Given the description of an element on the screen output the (x, y) to click on. 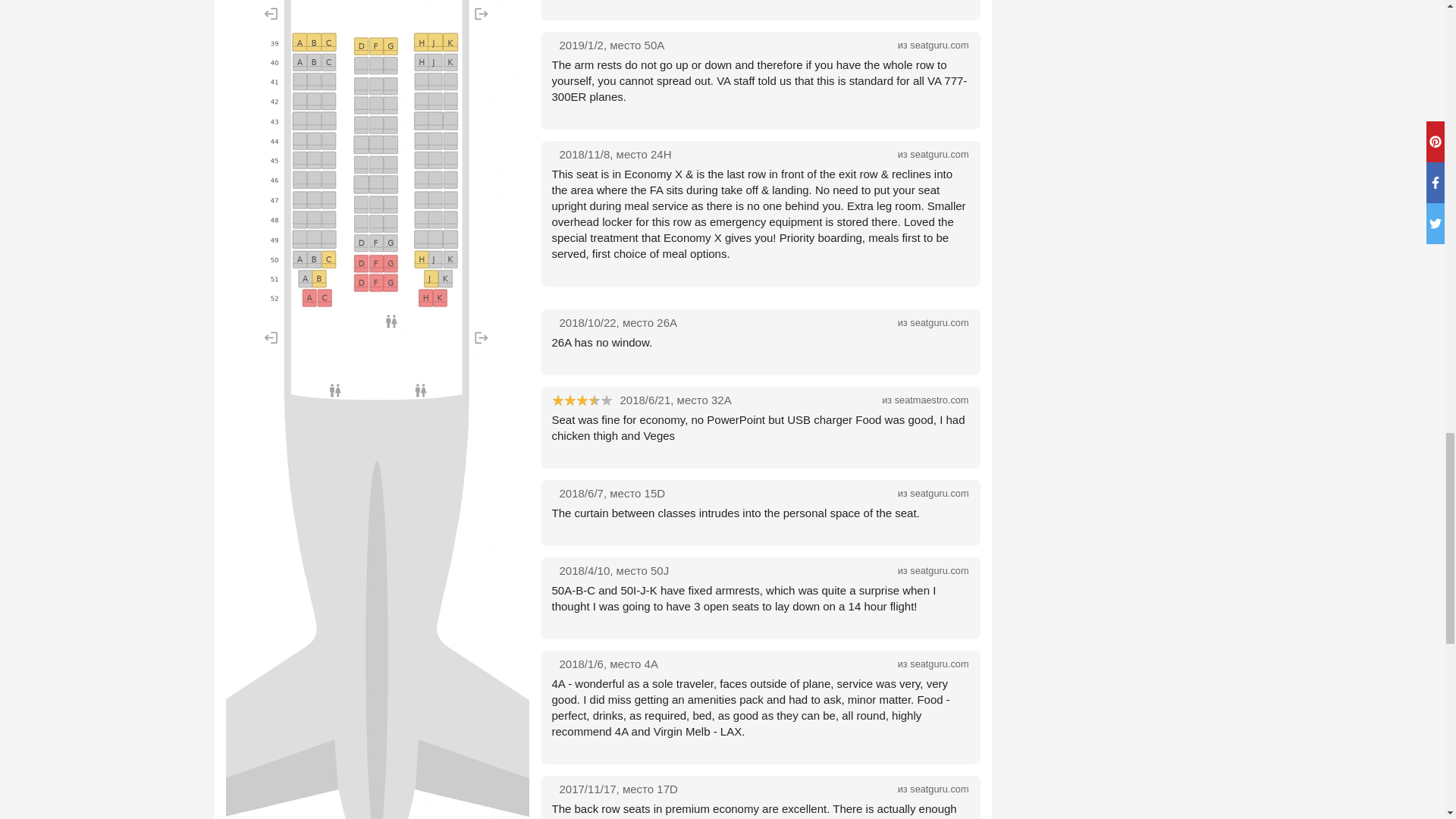
seatguru.com (939, 570)
seatguru.com (939, 322)
seatguru.com (939, 153)
seatmaestro.com (932, 399)
seatguru.com (939, 492)
seatguru.com (939, 44)
seatguru.com (939, 663)
